Given the description of an element on the screen output the (x, y) to click on. 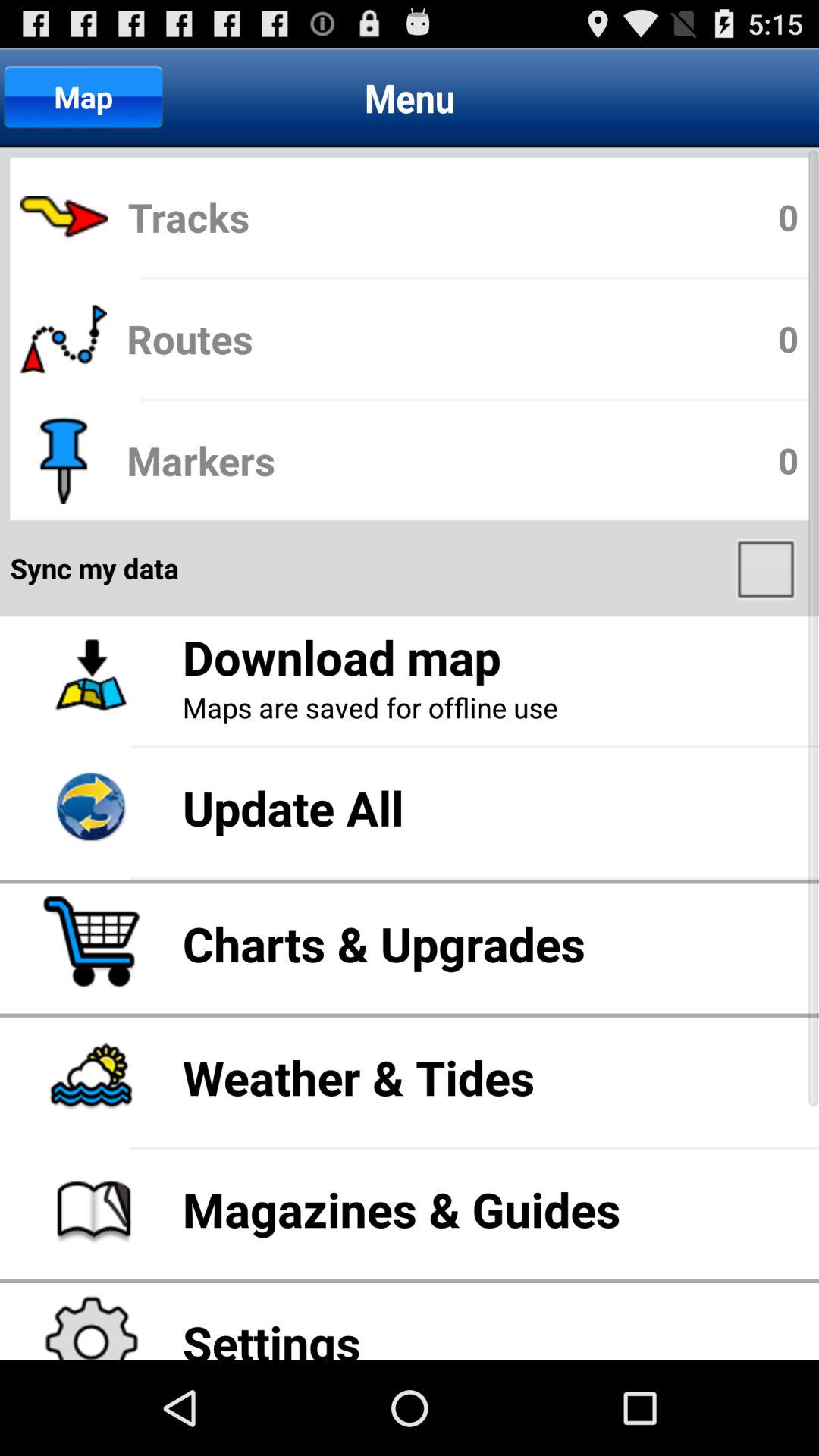
toggle sync all (767, 567)
